Given the description of an element on the screen output the (x, y) to click on. 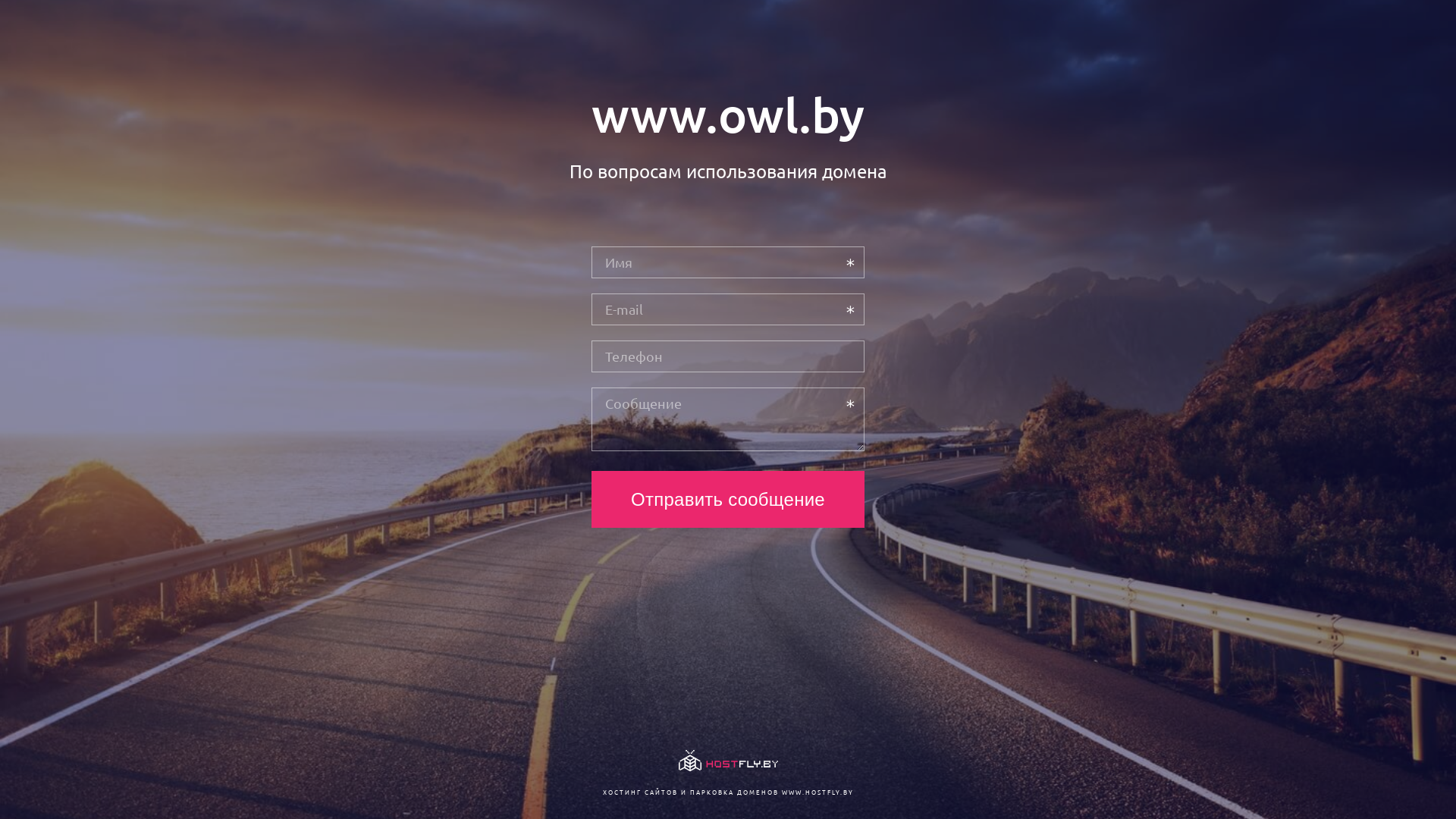
WWW.HOSTFLY.BY Element type: text (817, 791)
